Given the description of an element on the screen output the (x, y) to click on. 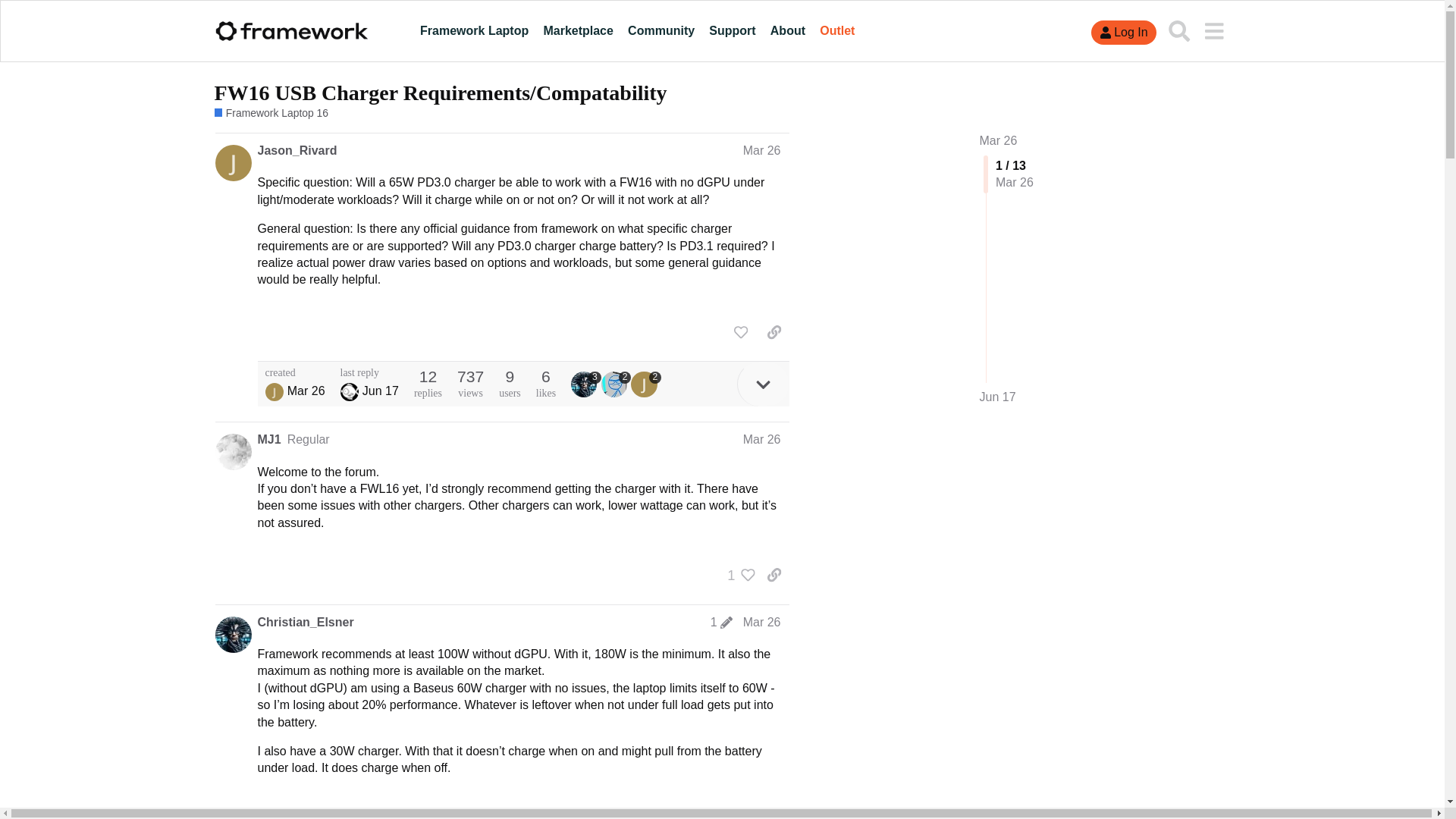
Post date (761, 150)
MJ1 (269, 439)
1 (737, 574)
last reply (369, 372)
About Framework Laptop (787, 29)
1 Reply (284, 813)
Jun 17 (997, 397)
Framework Outlet (836, 29)
Framework Laptop (473, 29)
Log In (1123, 32)
1 (721, 622)
Mar 26 (998, 140)
Framework Marketplace (578, 29)
expand topic details (762, 383)
menu (1213, 30)
